Given the description of an element on the screen output the (x, y) to click on. 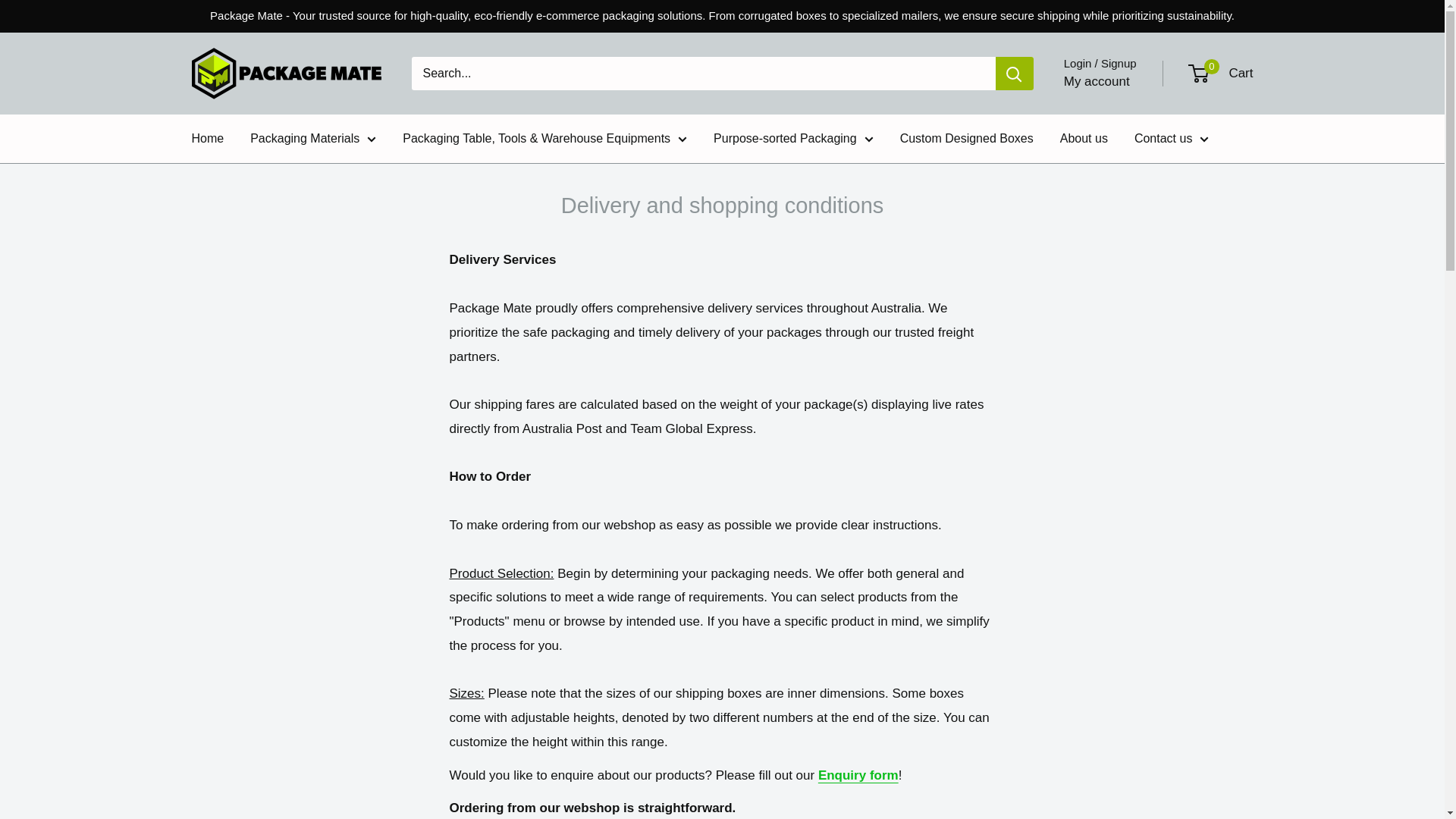
Enquiry form (858, 775)
